Given the description of an element on the screen output the (x, y) to click on. 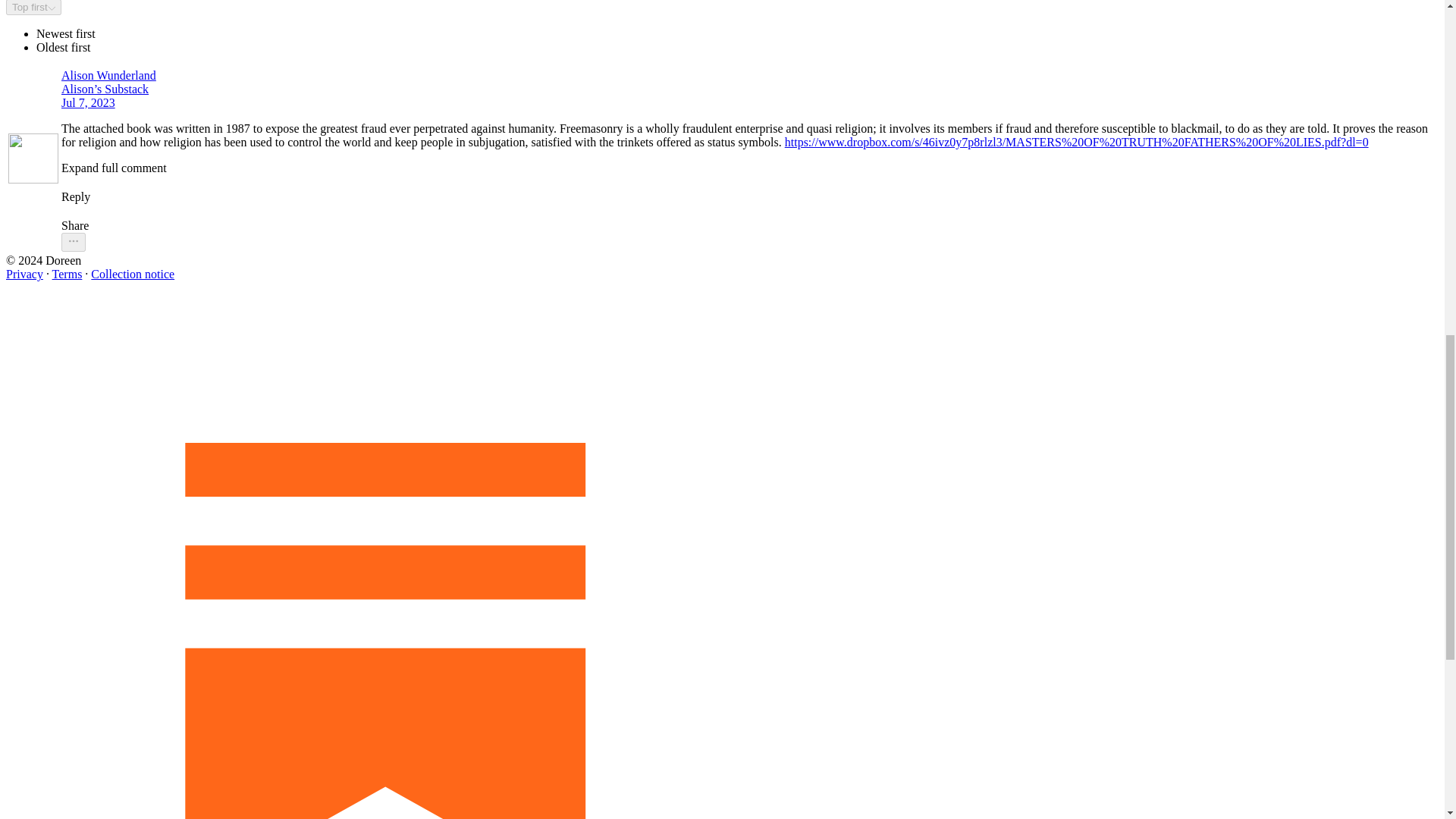
Collection notice (132, 273)
Newest first (66, 33)
Privacy (24, 273)
Oldest first (63, 47)
Terms (67, 273)
Top first (33, 7)
Jul 7, 2023 (88, 102)
